Given the description of an element on the screen output the (x, y) to click on. 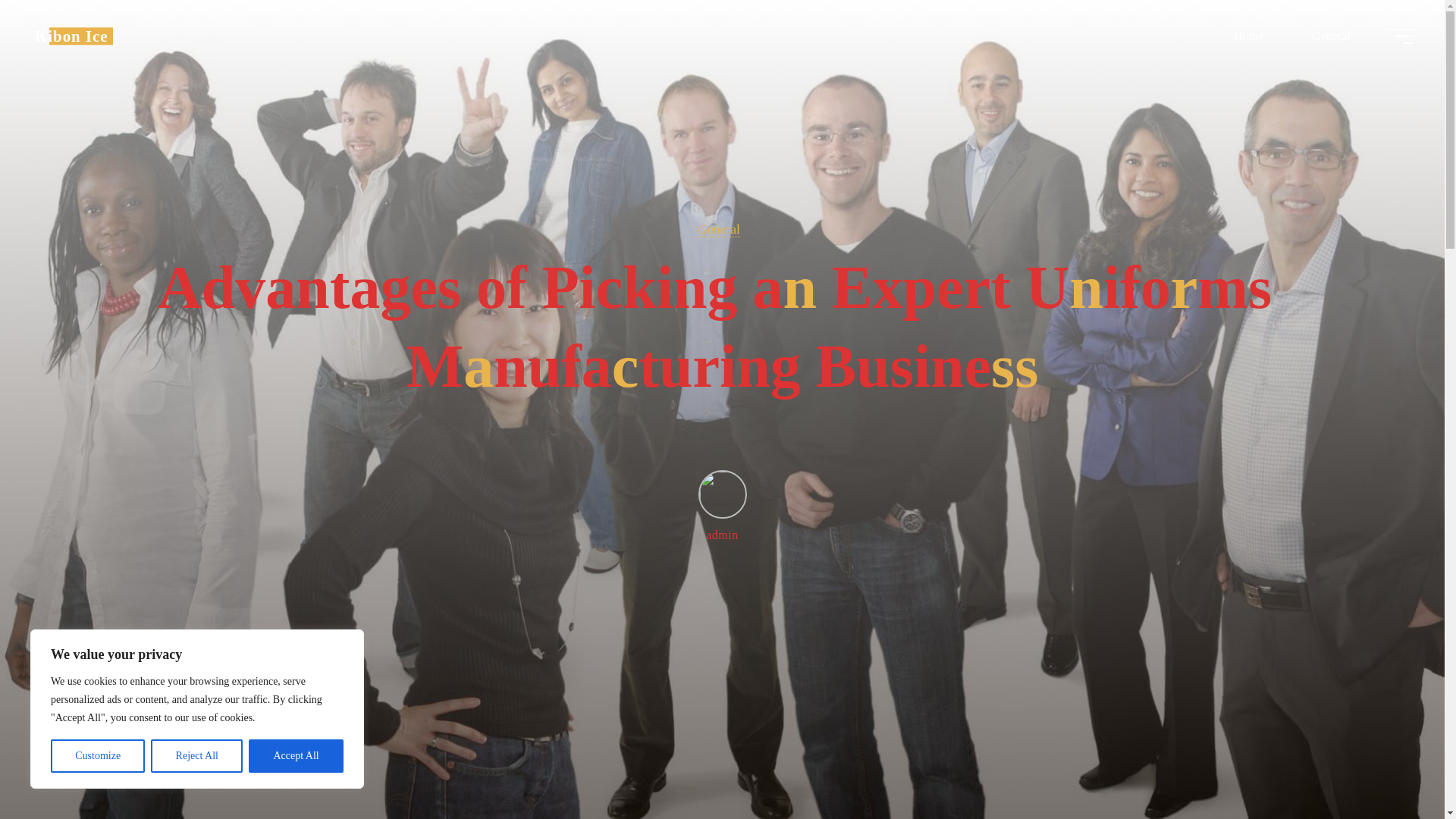
Reject All (197, 756)
Kibon Ice (71, 36)
Customize (97, 756)
General (1330, 35)
Home (1248, 35)
Blog (71, 36)
General (718, 229)
Accept All (295, 756)
Read more (721, 724)
